Given the description of an element on the screen output the (x, y) to click on. 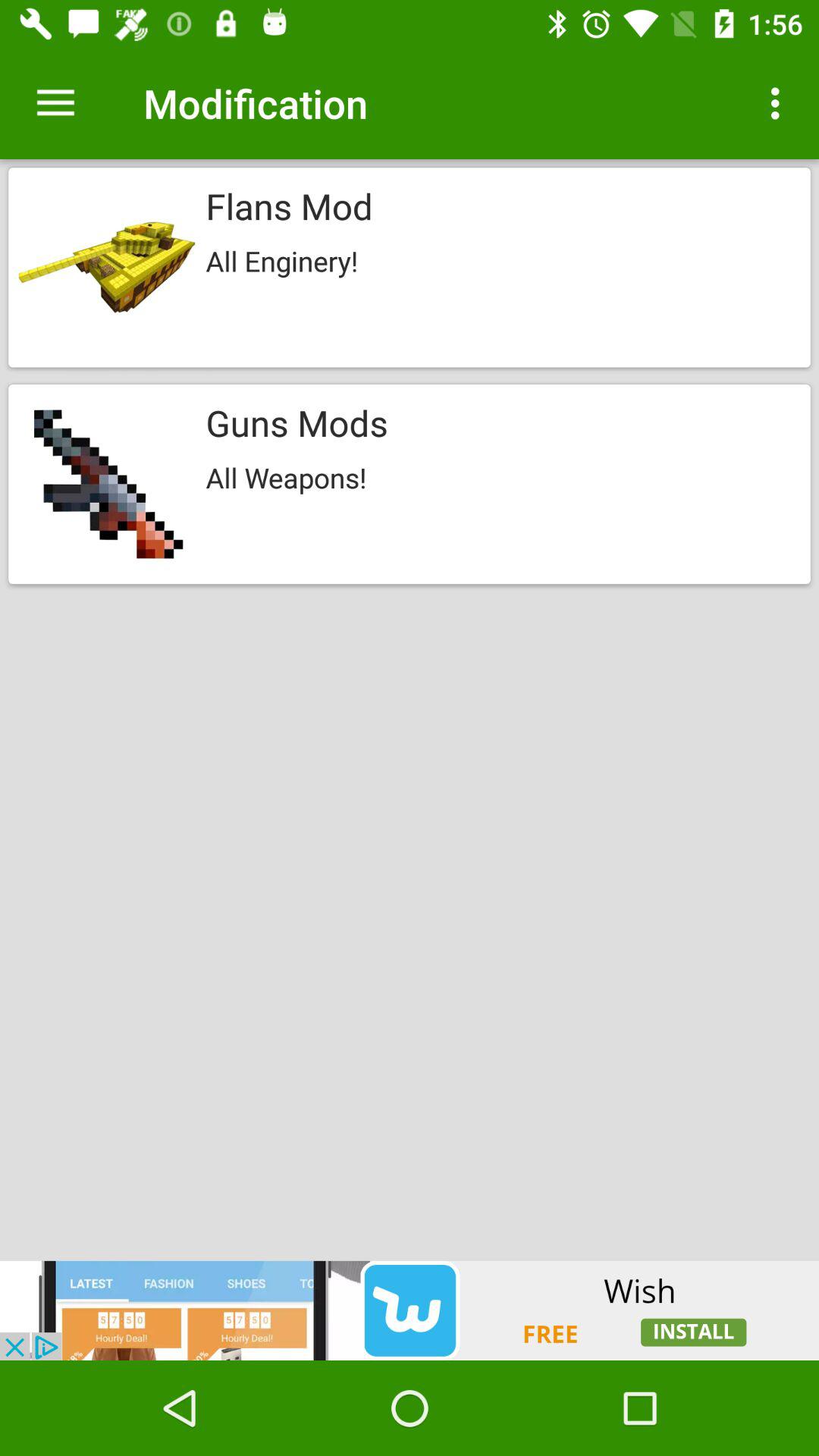
visit our advertisements (409, 1310)
